Given the description of an element on the screen output the (x, y) to click on. 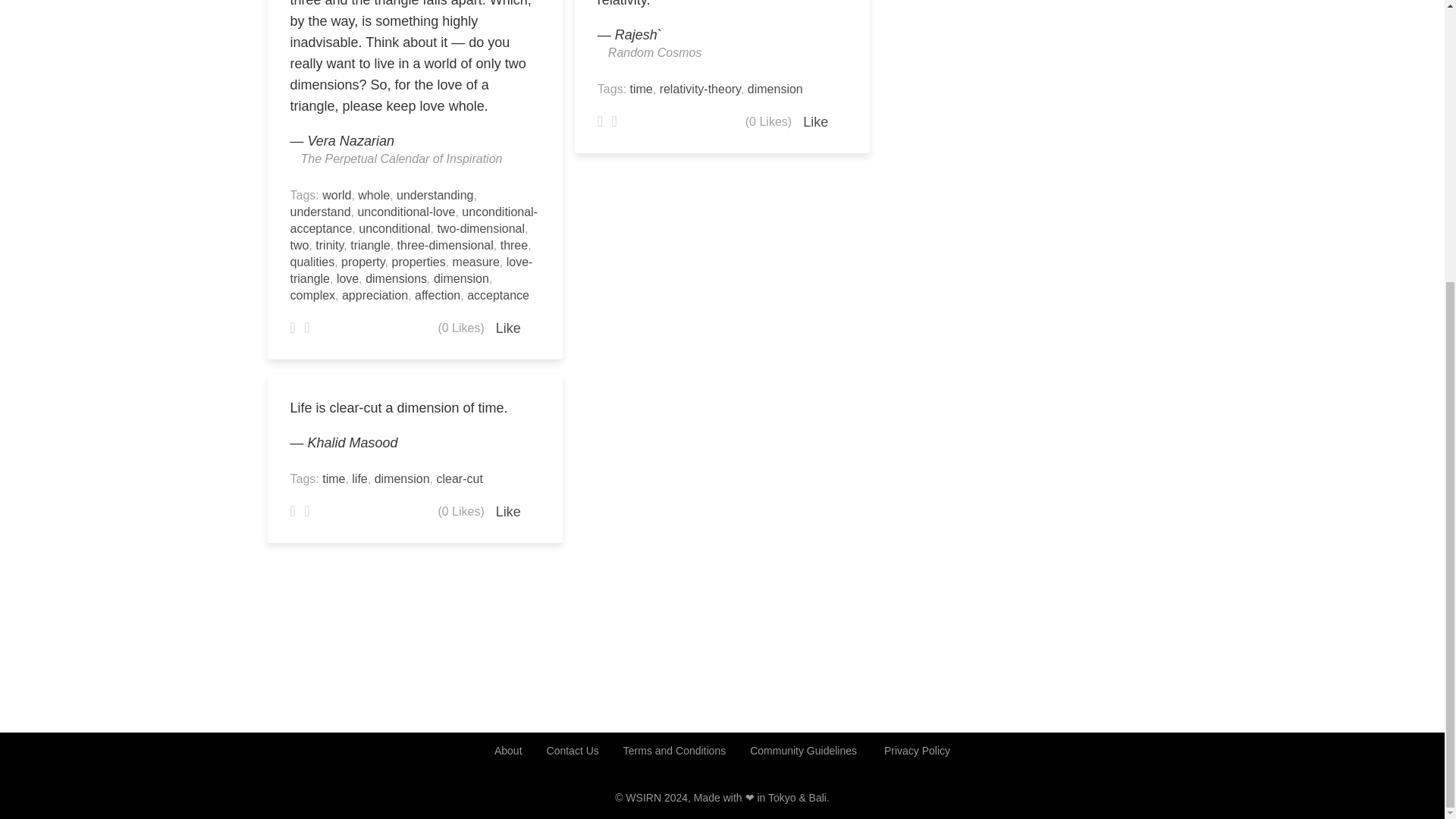
property (362, 261)
three (513, 245)
triangle (370, 245)
two (298, 245)
love (347, 278)
qualities (311, 261)
trinity (329, 245)
Vera Nazarian (350, 140)
dimension (461, 278)
unconditional (393, 228)
